Given the description of an element on the screen output the (x, y) to click on. 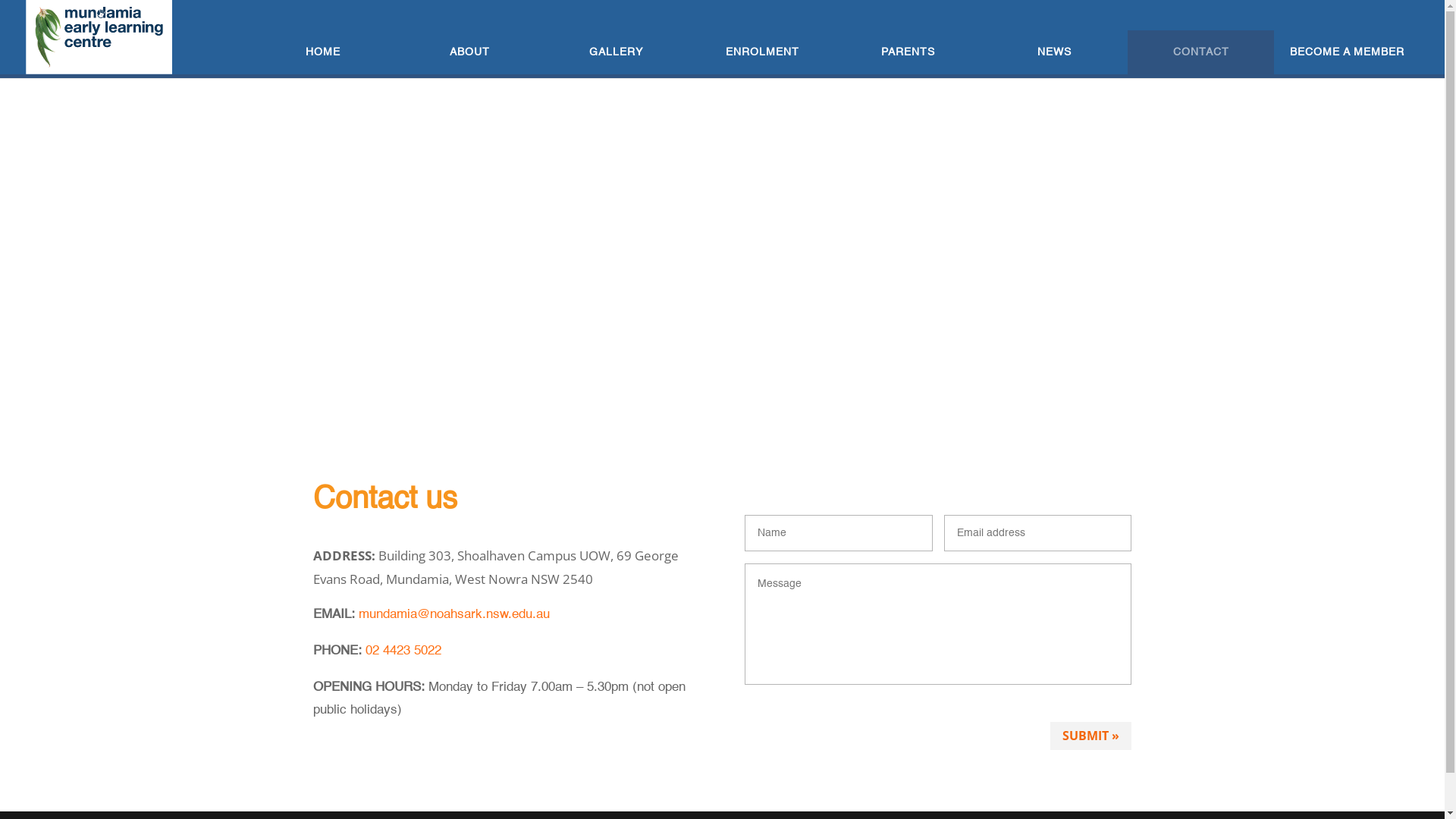
02 4423 5022 Element type: text (403, 650)
NEWS Element type: text (1054, 52)
ABOUT Element type: text (469, 52)
HOME Element type: text (323, 52)
CONTACT Element type: text (1200, 52)
BECOME A MEMBER Element type: text (1347, 52)
GALLERY Element type: text (615, 52)
PARENTS Element type: text (908, 52)
ENROLMENT Element type: text (762, 52)
mundamia@noahsark.nsw.edu.au Element type: text (453, 614)
